Given the description of an element on the screen output the (x, y) to click on. 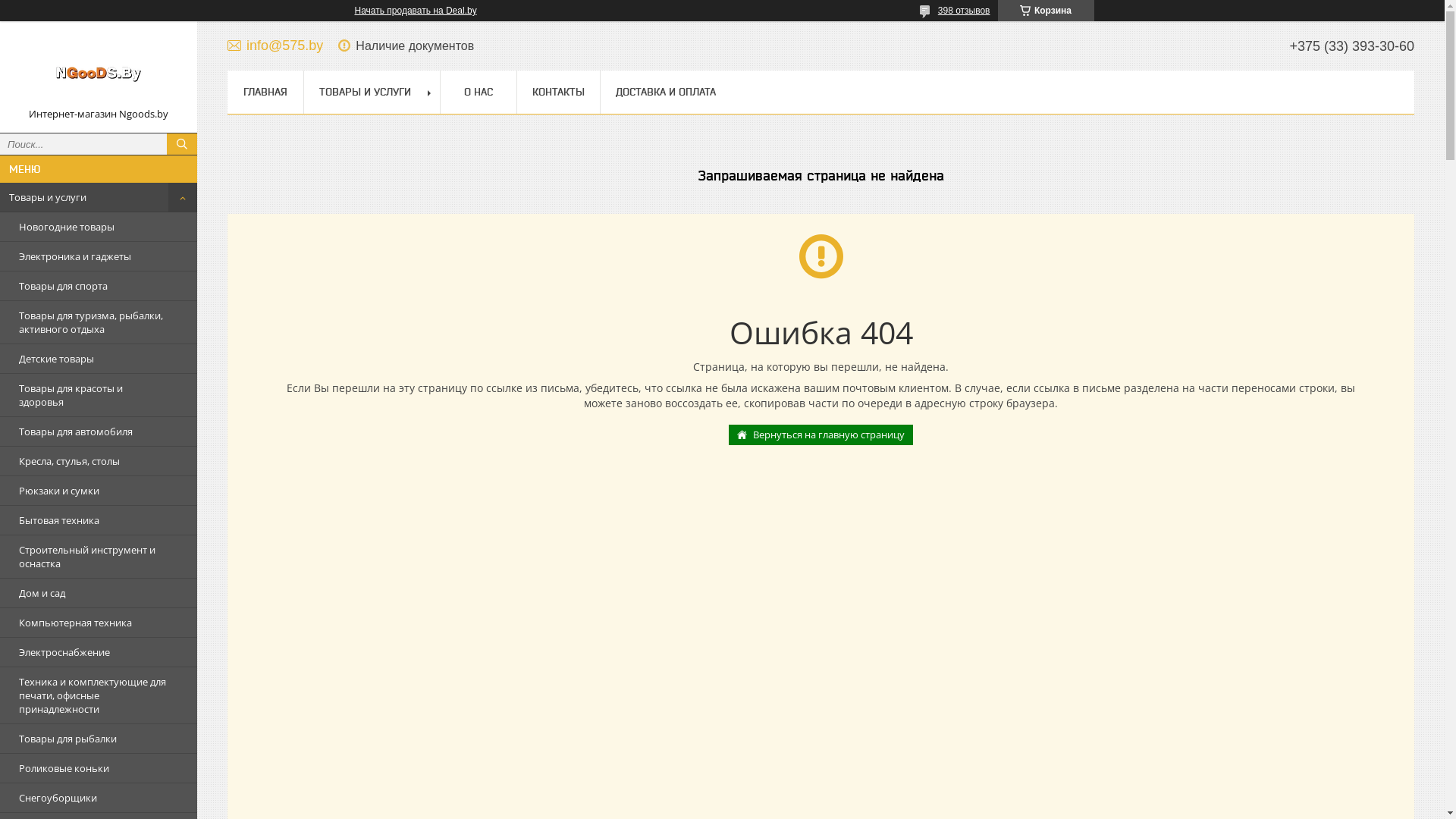
info@575.by Element type: text (275, 45)
Ngoods.by Element type: hover (98, 69)
